Given the description of an element on the screen output the (x, y) to click on. 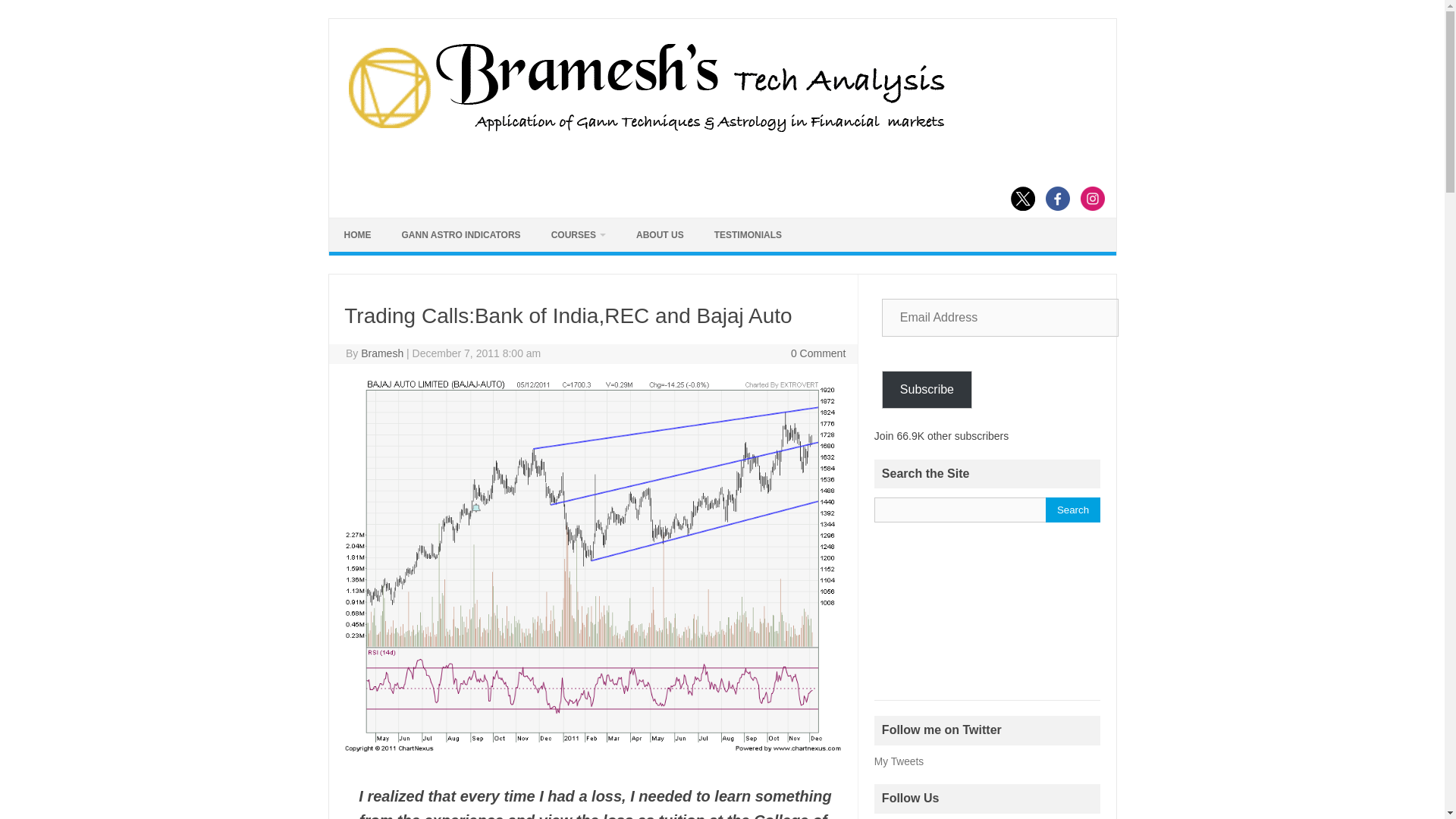
Bramesh (382, 353)
TESTIMONIALS (747, 234)
GANN ASTRO INDICATORS (461, 234)
Subscribe (927, 389)
Bramesh's Technical Analysis (645, 132)
COURSES (578, 234)
Posts by Bramesh (382, 353)
Search (1072, 509)
ABOUT US (659, 234)
HOME (358, 234)
0 Comment (817, 353)
